Given the description of an element on the screen output the (x, y) to click on. 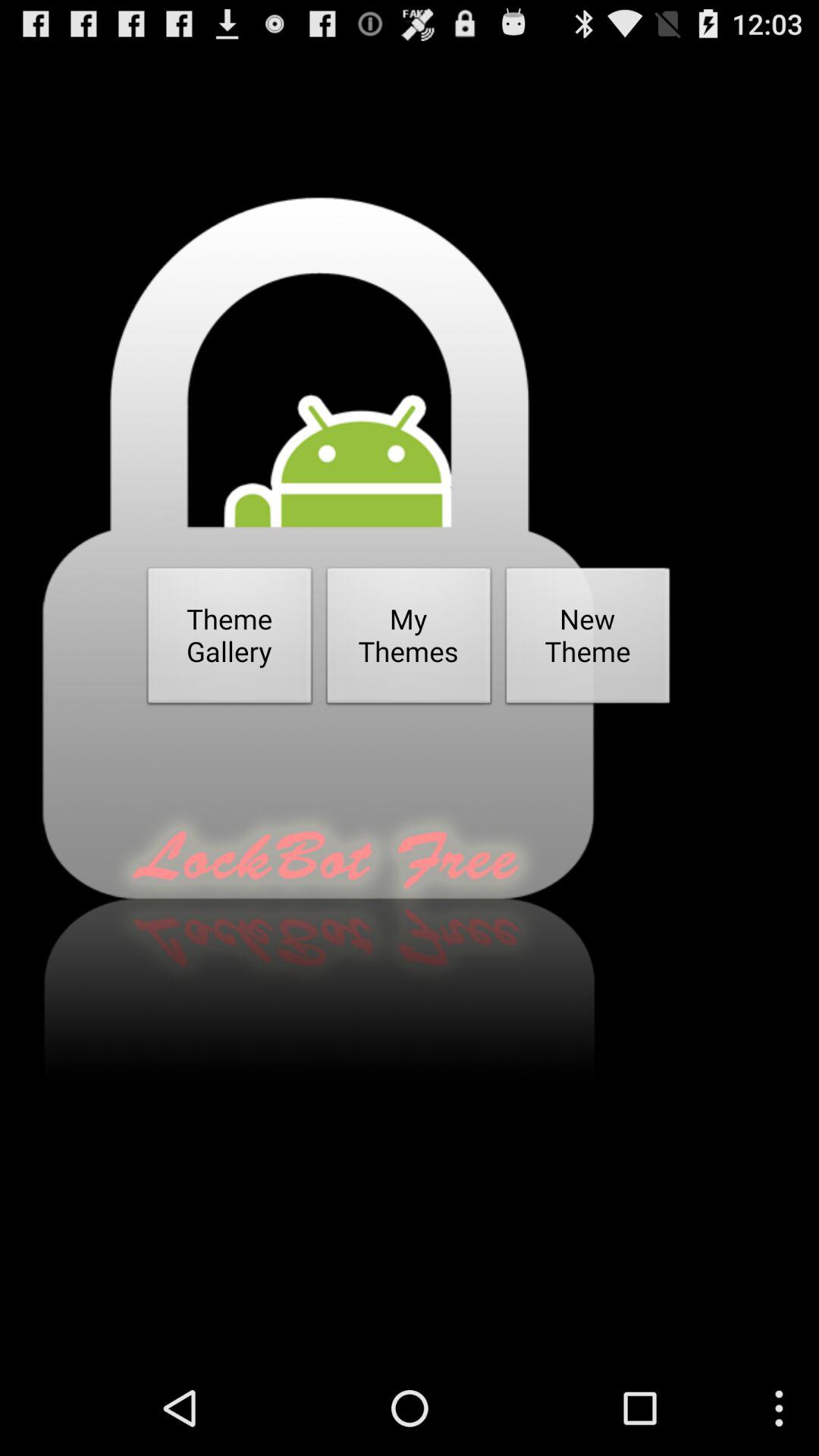
select button to the right of theme gallery button (408, 639)
